Given the description of an element on the screen output the (x, y) to click on. 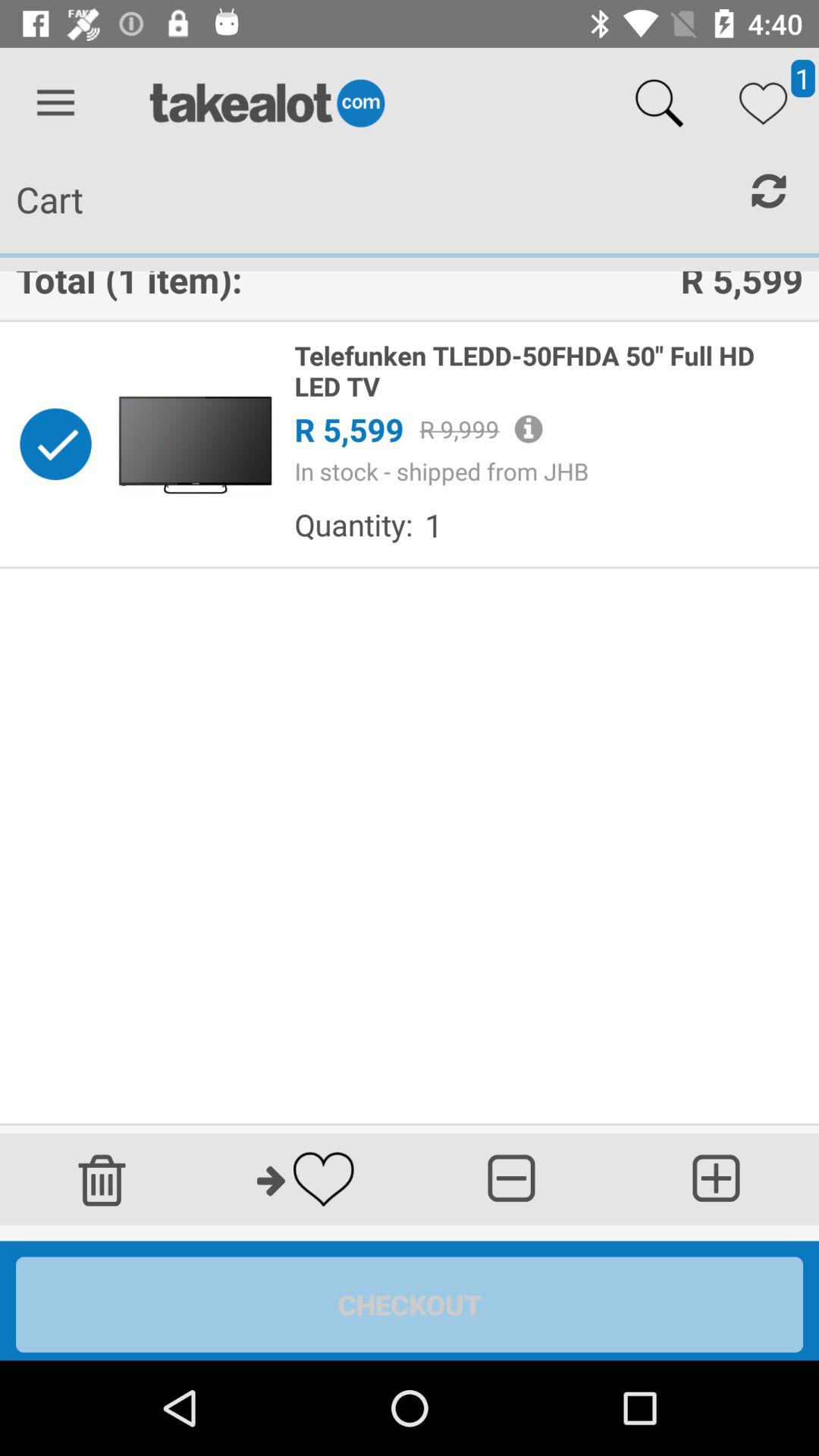
flip until continue shopping icon (409, 1304)
